Given the description of an element on the screen output the (x, y) to click on. 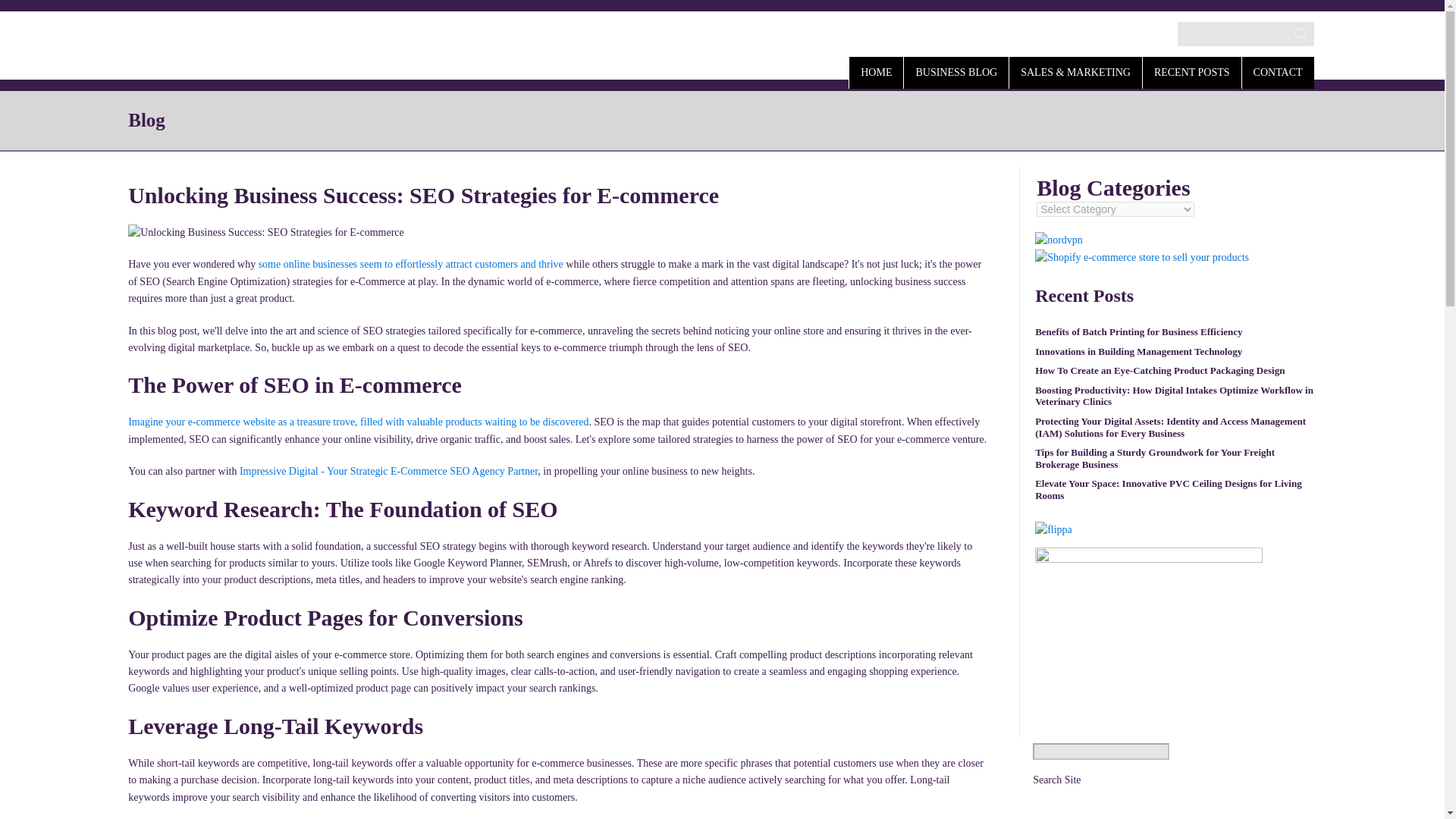
BUSINESS BLOG (956, 71)
HOME (875, 71)
Search (27, 12)
